Given the description of an element on the screen output the (x, y) to click on. 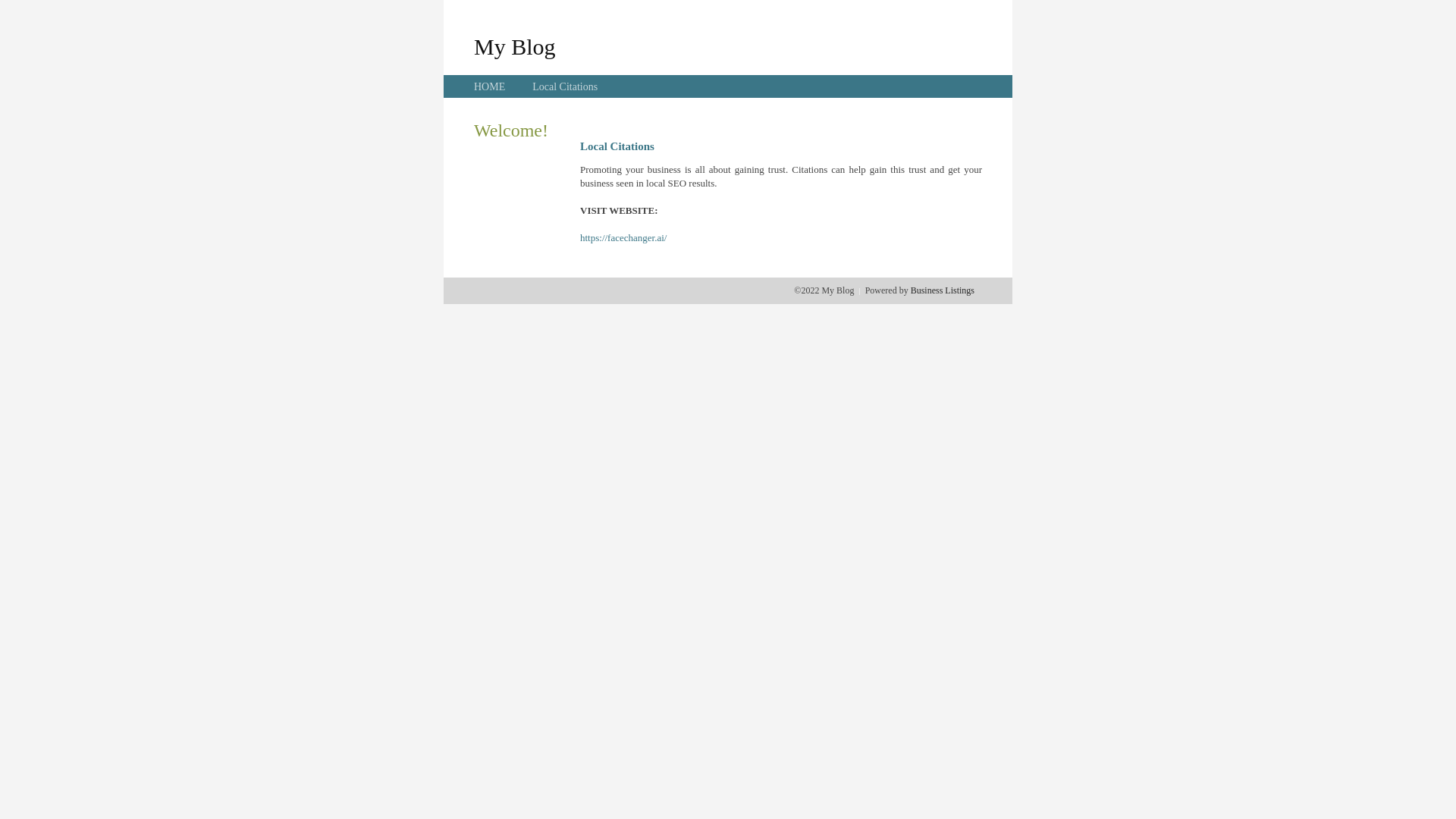
https://facechanger.ai/ Element type: text (623, 237)
Local Citations Element type: text (564, 86)
HOME Element type: text (489, 86)
Business Listings Element type: text (942, 290)
My Blog Element type: text (514, 46)
